Given the description of an element on the screen output the (x, y) to click on. 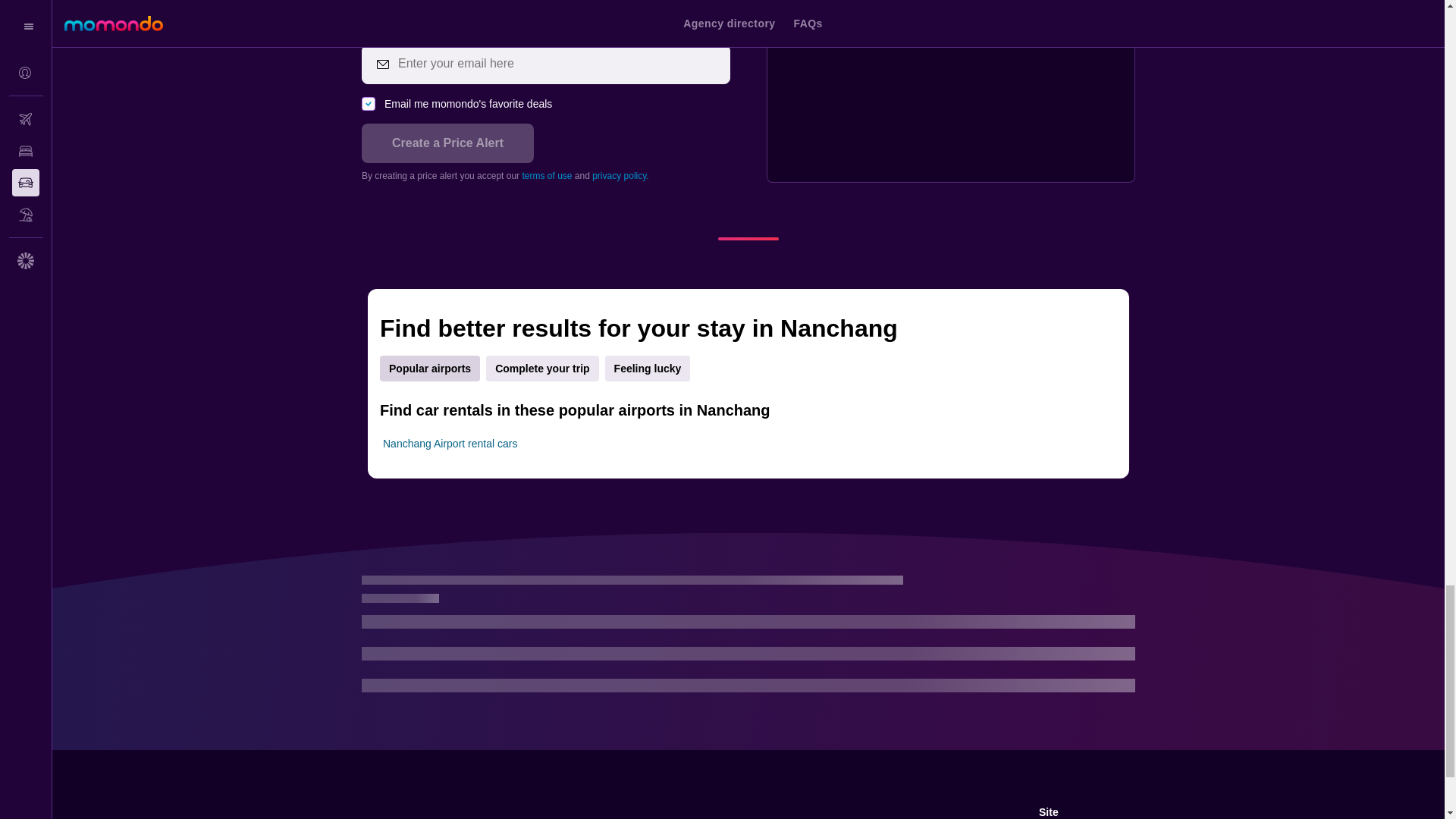
terms of use (546, 175)
Create a Price Alert (447, 142)
privacy policy. (619, 175)
Feeling lucky (647, 368)
Complete your trip (542, 368)
Nanchang Airport rental cars (449, 443)
Popular airports (430, 368)
